Given the description of an element on the screen output the (x, y) to click on. 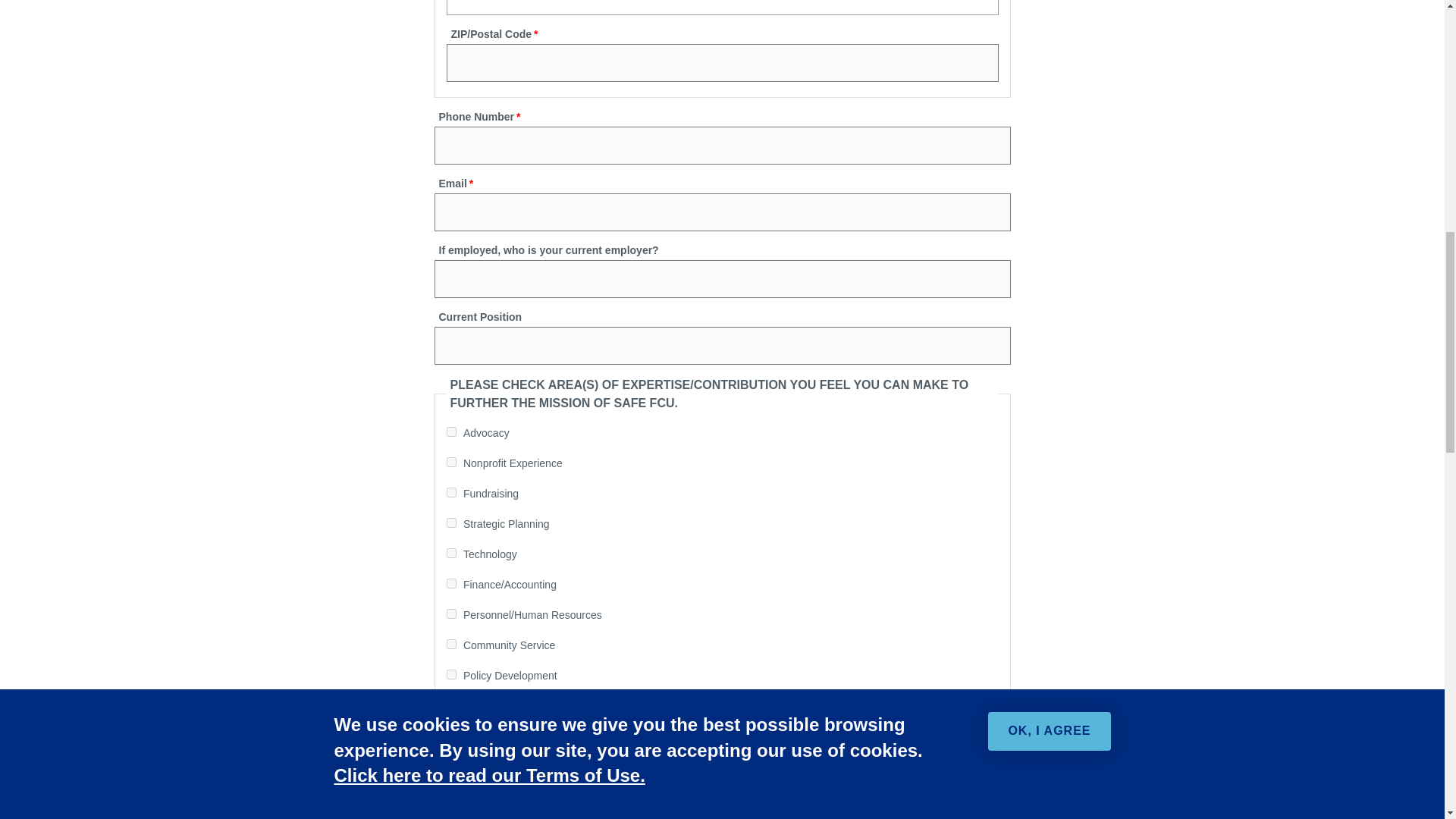
Nonprofit Experience (450, 461)
Technology (450, 552)
Strategic Planning (450, 522)
Advocacy  (450, 431)
Fundraising (450, 492)
